Given the description of an element on the screen output the (x, y) to click on. 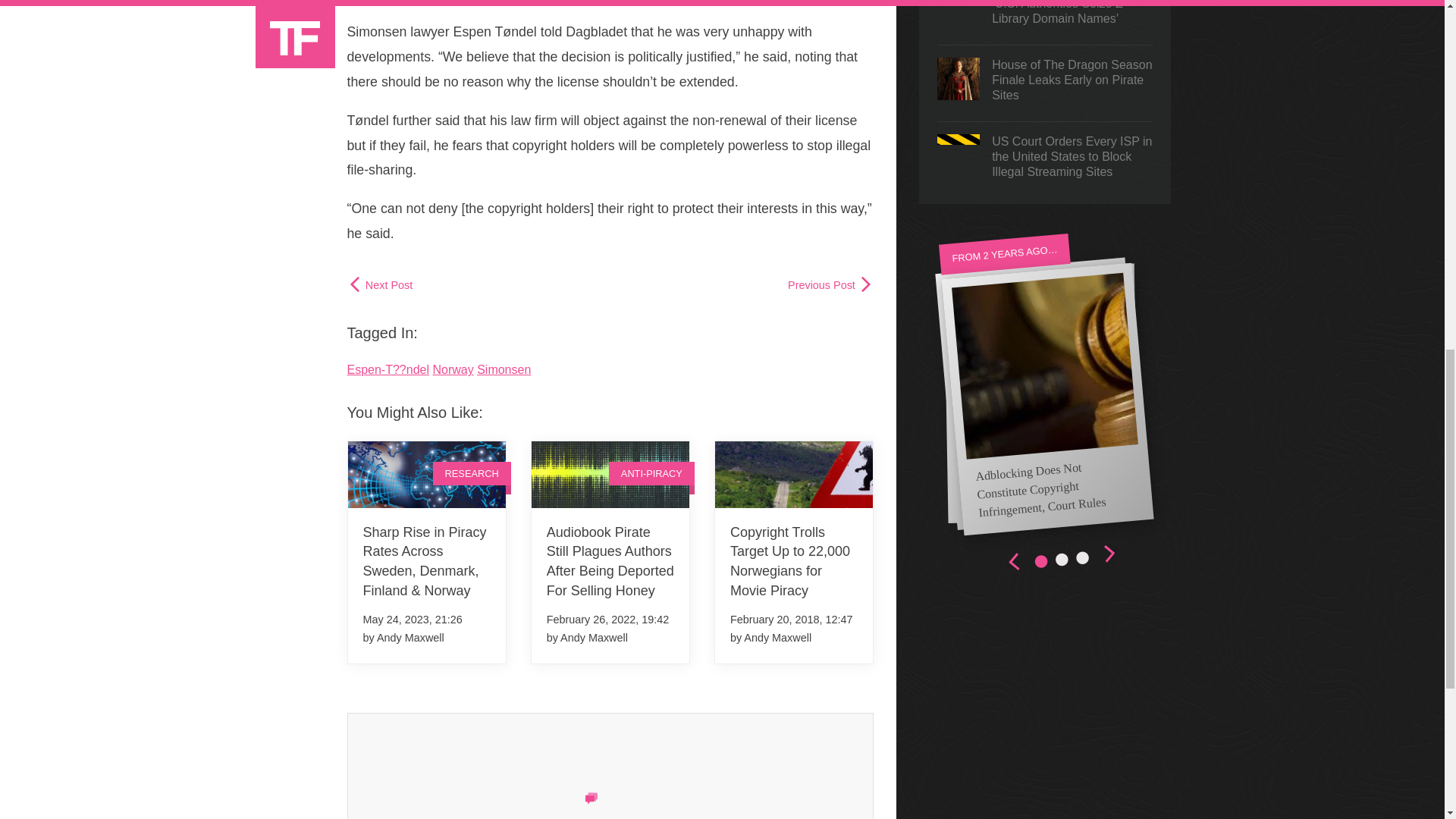
Espen-T??ndel (388, 369)
Simonsen (504, 369)
Next Post (380, 285)
Norway (452, 369)
Previous Post (830, 285)
